Given the description of an element on the screen output the (x, y) to click on. 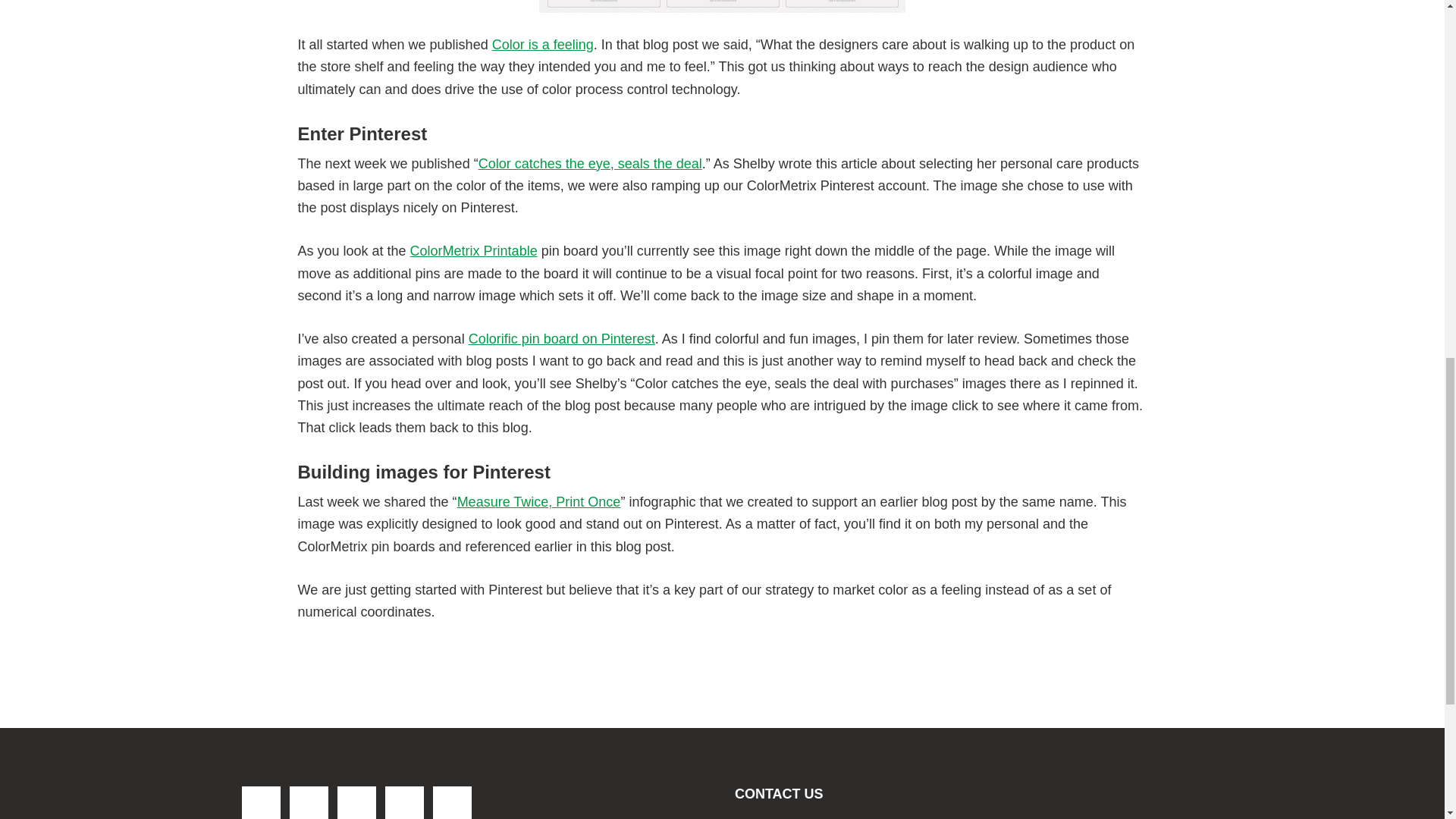
Measure Twice, Print Once (539, 501)
Colorific pin board on Pinterest (561, 338)
Color is a feeling (543, 44)
ColorMetrix Pinterest Boards (721, 6)
Color catches the eye, seals the deal (590, 163)
ColorMetrix Printable (473, 250)
